Given the description of an element on the screen output the (x, y) to click on. 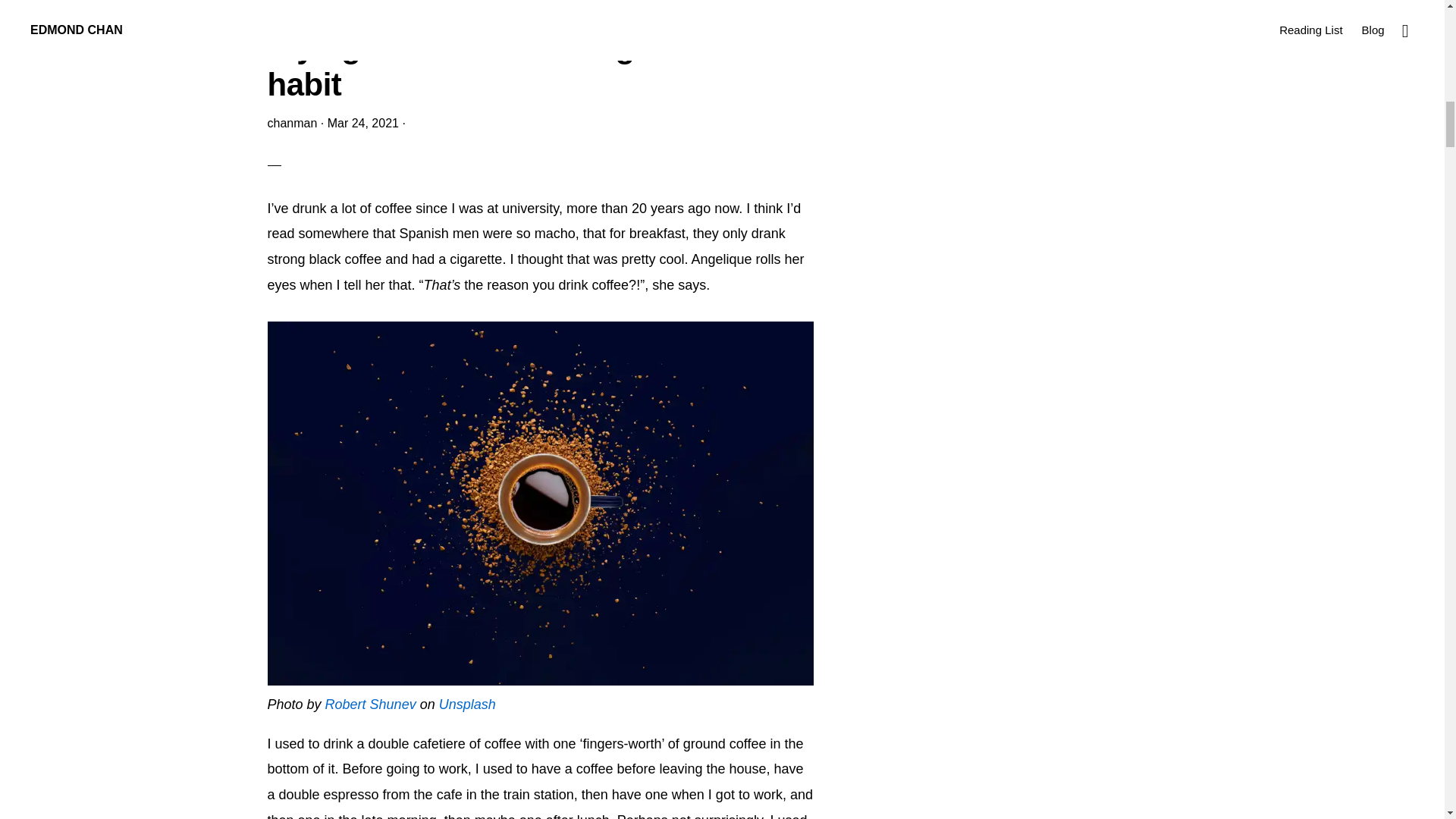
chanman (291, 123)
Robert Shunev (370, 703)
Trying to break a lifelong caffeine habit (513, 65)
Unsplash (467, 703)
